Given the description of an element on the screen output the (x, y) to click on. 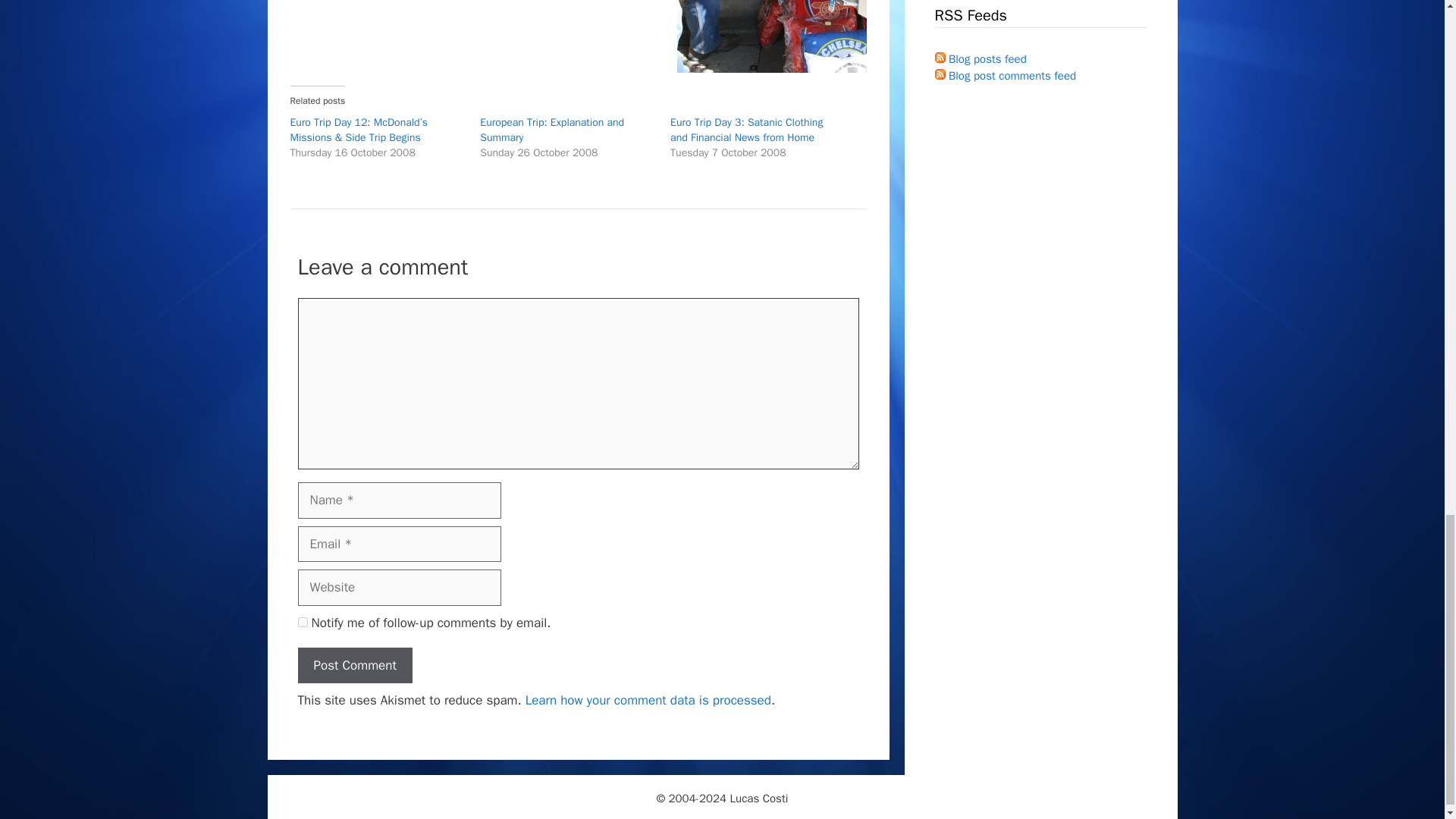
European Trip: Explanation and Summary (552, 130)
Post Comment (354, 665)
European Trip: Explanation and Summary (552, 130)
Scroll back to top (1406, 114)
Blog posts feed (980, 59)
Post Comment (354, 665)
subscribe (302, 622)
Blog post comments feed (1004, 75)
Learn how your comment data is processed (648, 700)
